Given the description of an element on the screen output the (x, y) to click on. 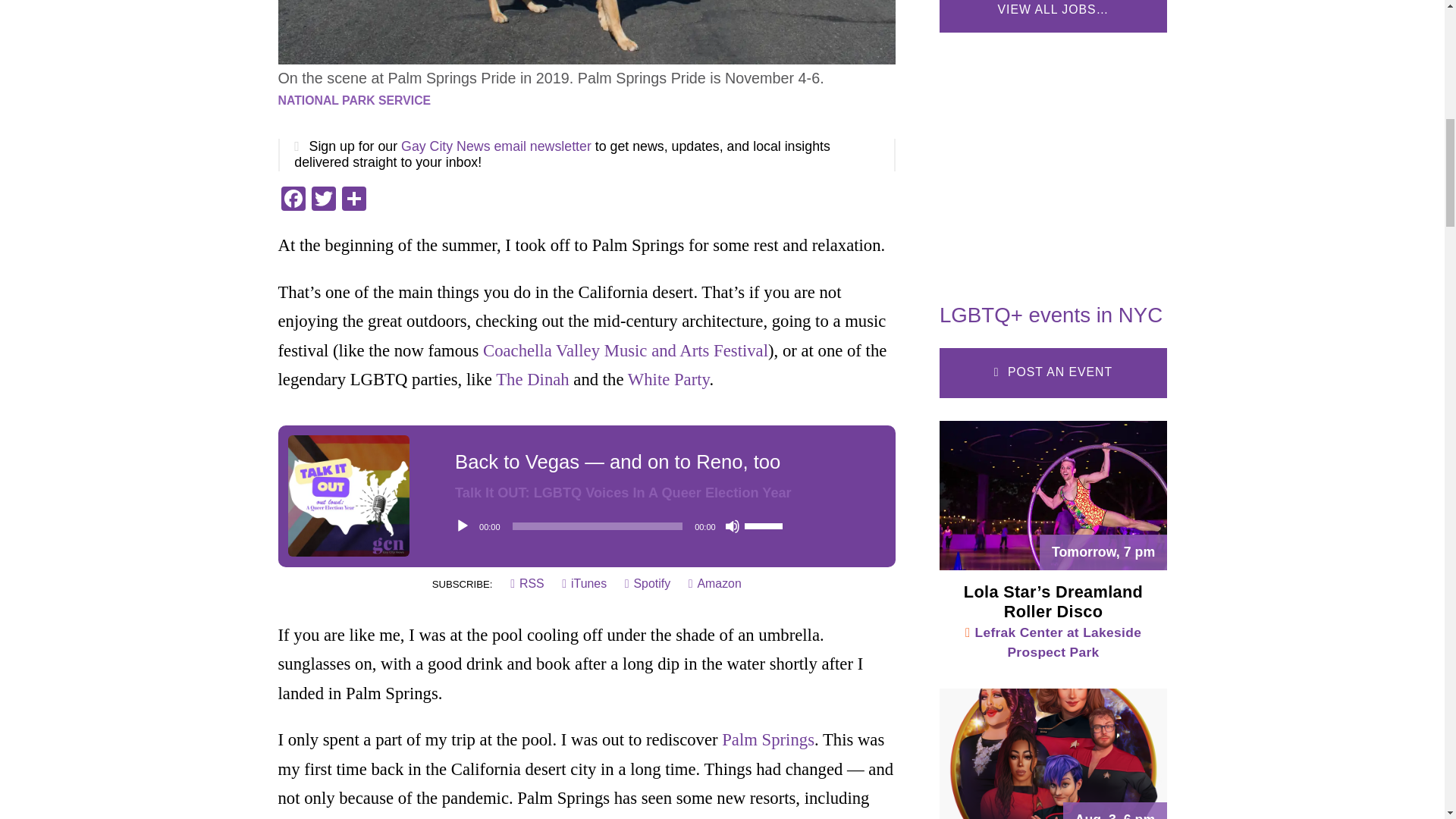
Twitter (322, 200)
Facebook (292, 200)
Mute (732, 525)
Play (462, 525)
